Given the description of an element on the screen output the (x, y) to click on. 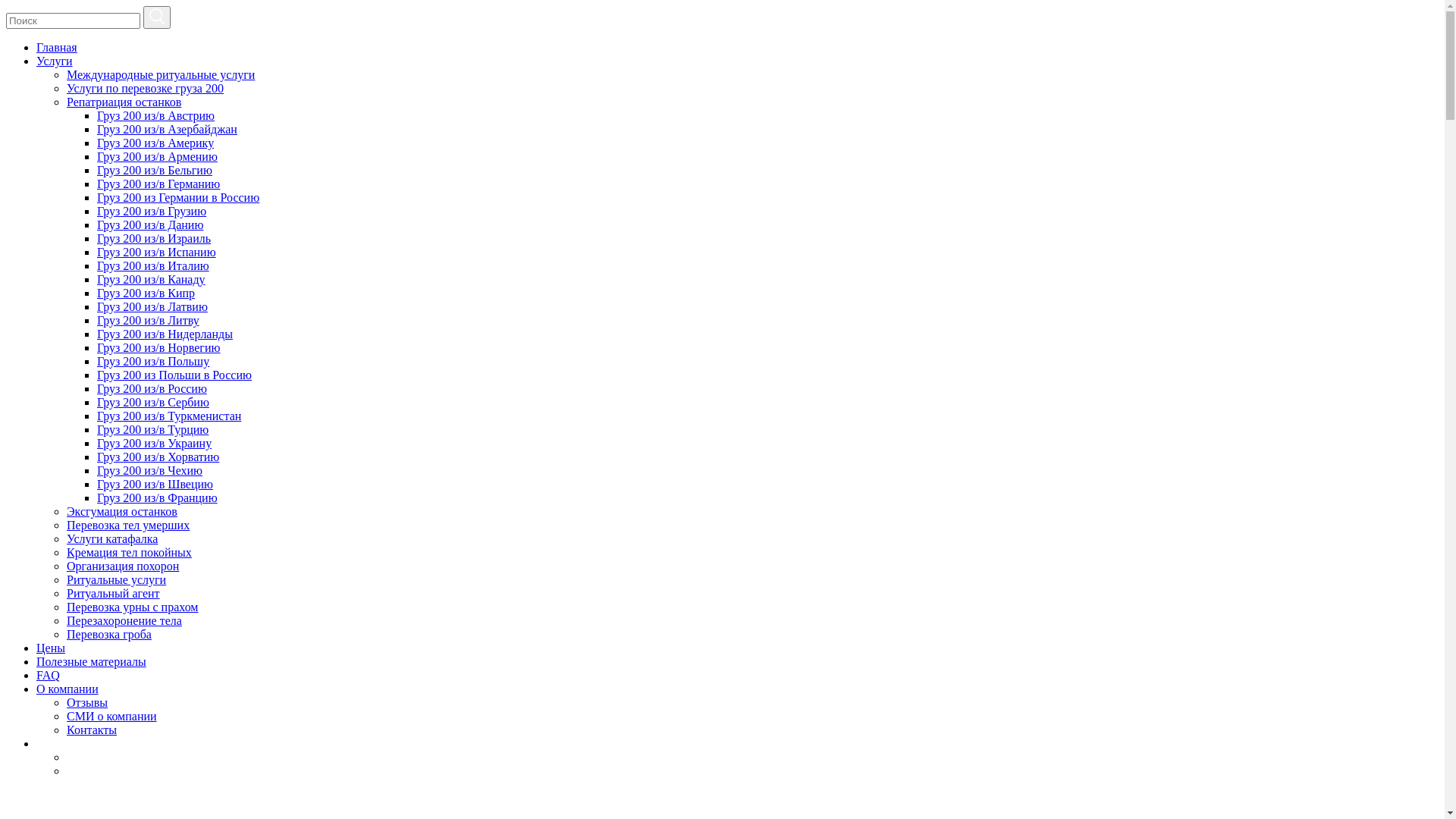
FAQ Element type: text (47, 674)
